Given the description of an element on the screen output the (x, y) to click on. 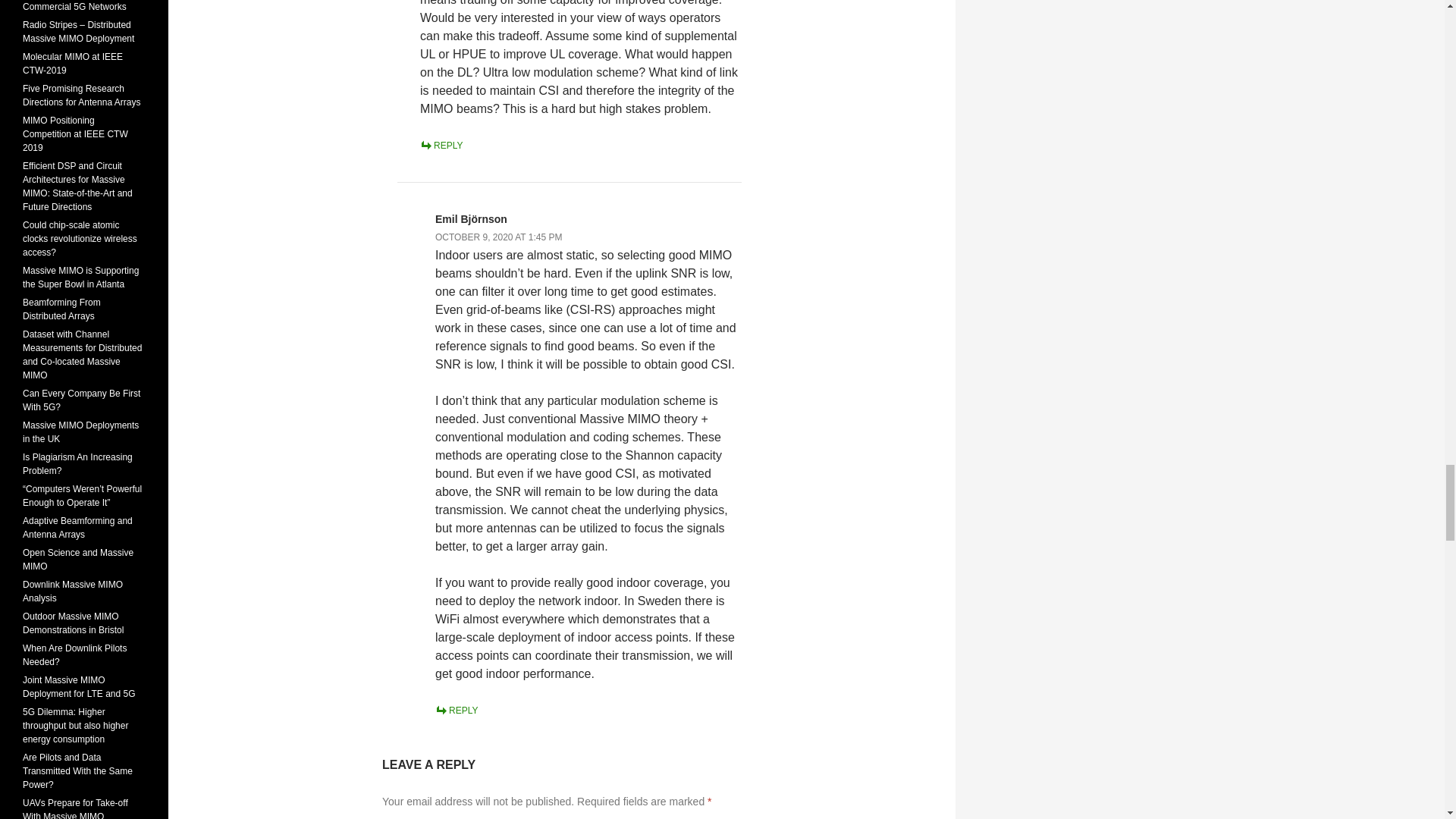
OCTOBER 9, 2020 AT 1:45 PM (498, 236)
REPLY (441, 145)
REPLY (456, 710)
